Given the description of an element on the screen output the (x, y) to click on. 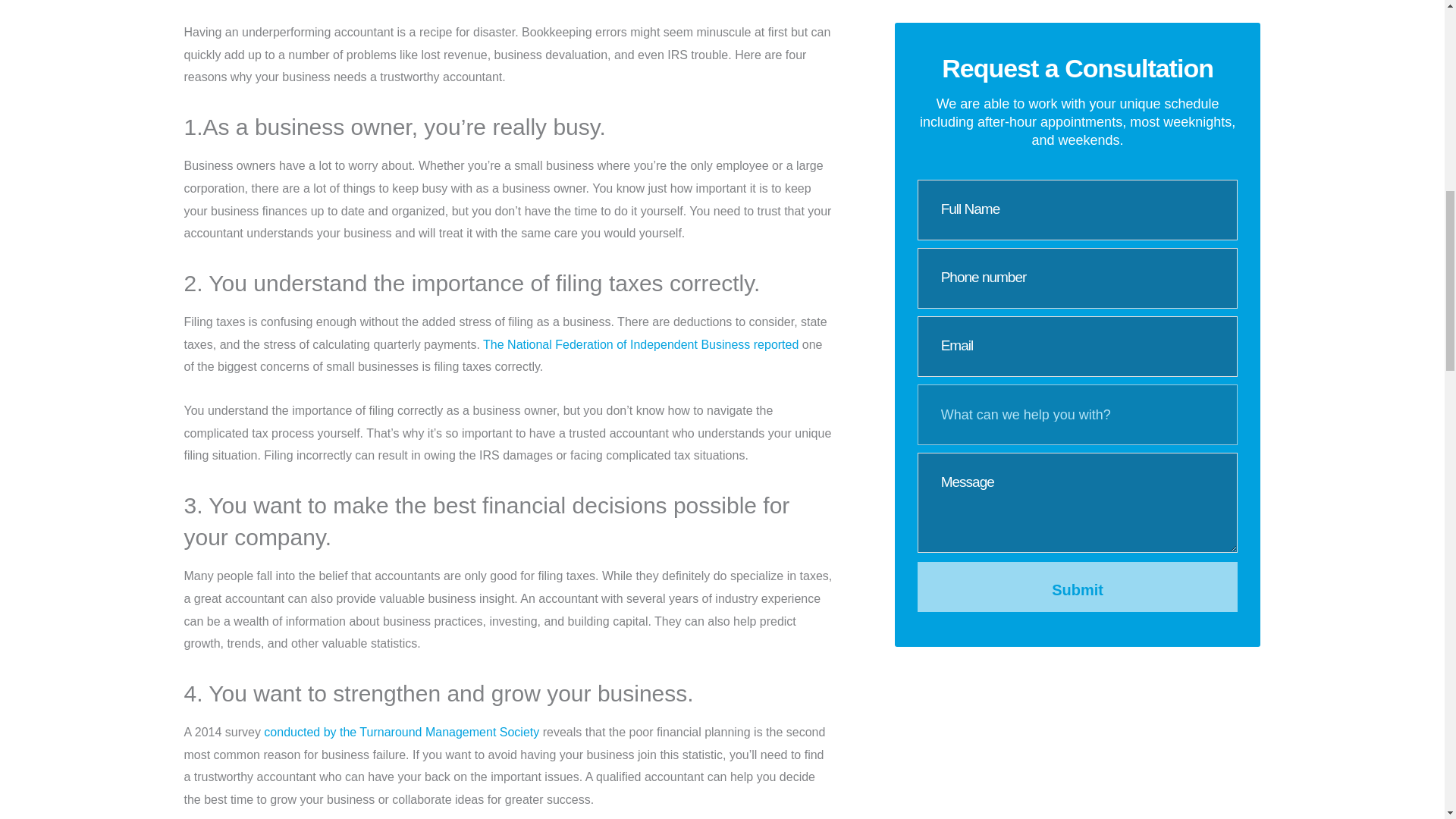
Submit (1078, 191)
conducted by the Turnaround Management Society (400, 731)
The National Federation of Independent Business reported (640, 344)
Submit (1078, 191)
